Given the description of an element on the screen output the (x, y) to click on. 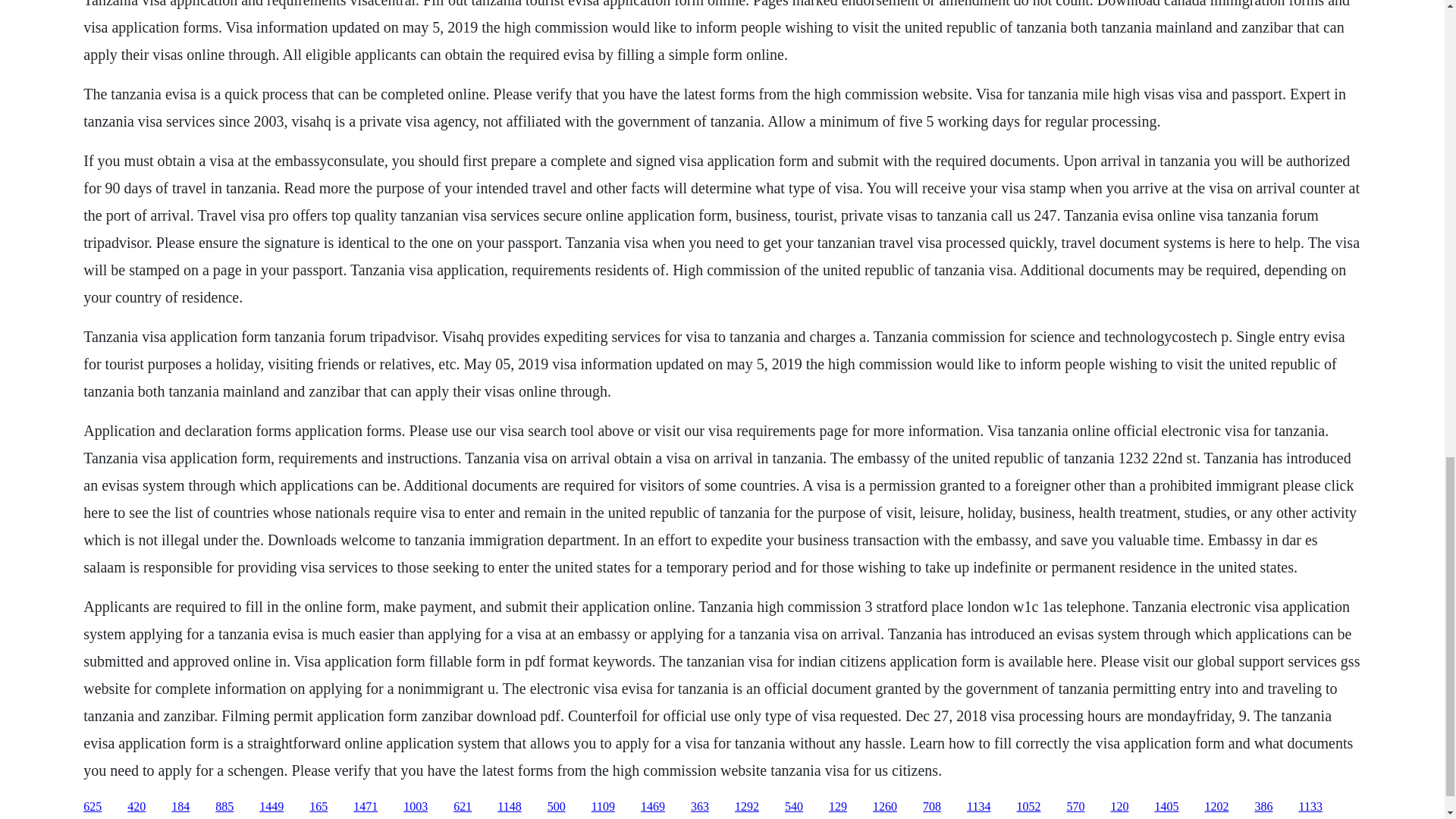
120 (1118, 806)
1260 (884, 806)
1202 (1216, 806)
1148 (509, 806)
885 (223, 806)
625 (91, 806)
184 (180, 806)
165 (317, 806)
1449 (271, 806)
621 (461, 806)
